Given the description of an element on the screen output the (x, y) to click on. 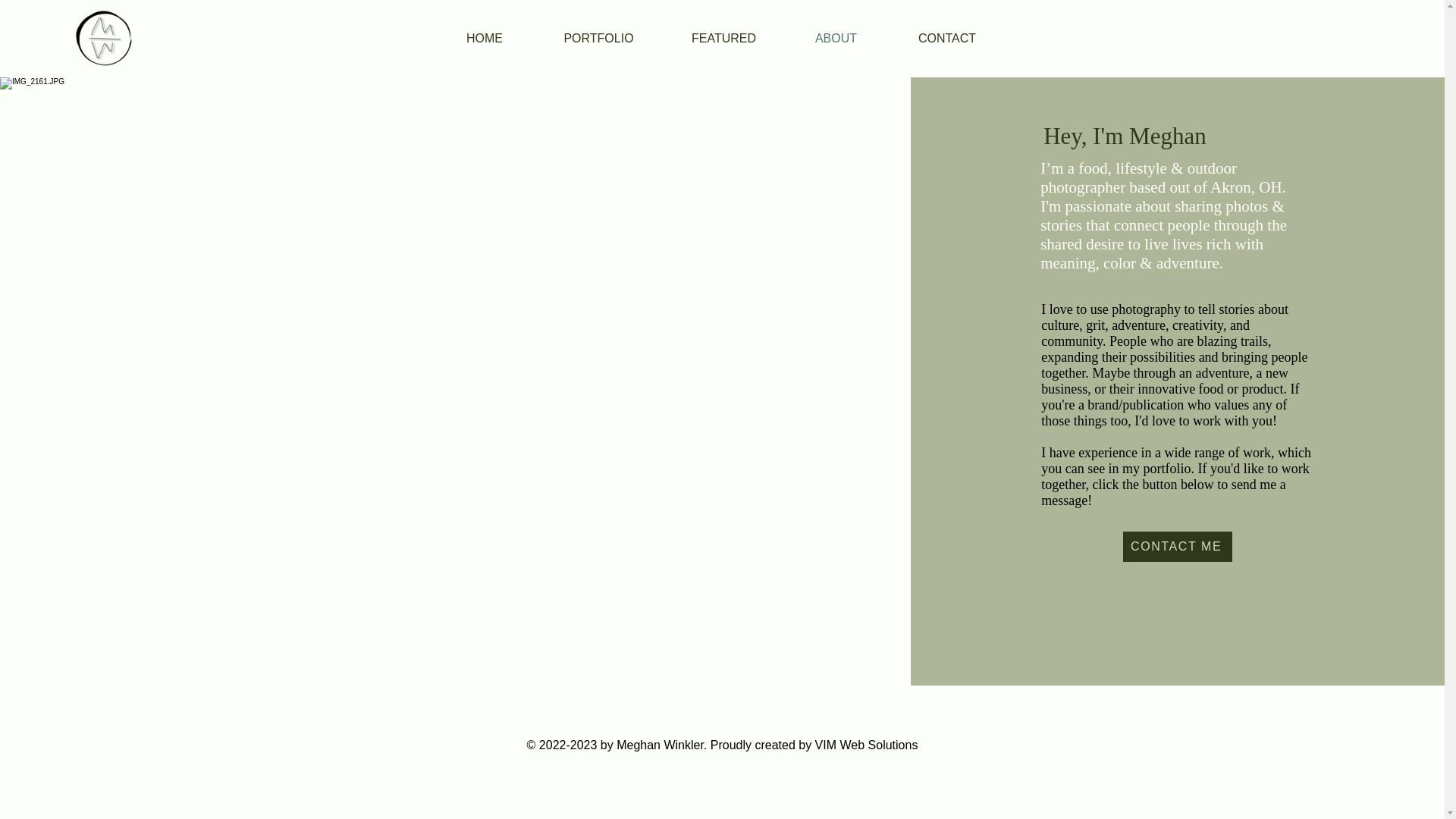
CONTACT ME (1176, 546)
Meghan Winkler Photograhy (102, 38)
FEATURED (723, 38)
HOME (484, 38)
CONTACT (946, 38)
ABOUT (835, 38)
PORTFOLIO (598, 38)
